Given the description of an element on the screen output the (x, y) to click on. 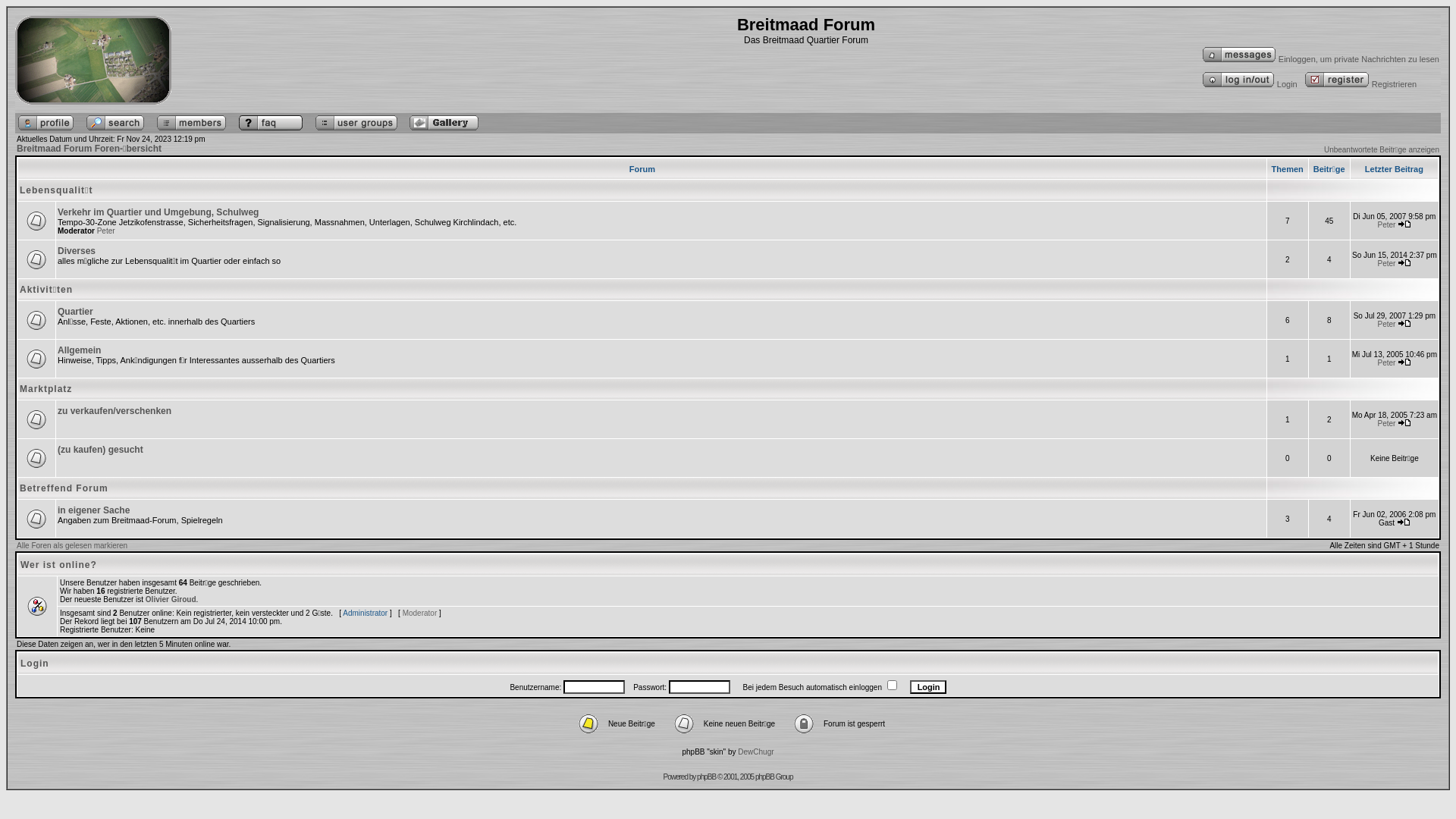
Peter Element type: text (1386, 324)
Quartier Element type: text (75, 311)
Peter Element type: text (1386, 263)
DewChugr Element type: text (755, 751)
Diverses Element type: text (76, 250)
Betreffend Forum Element type: text (63, 488)
Olivier Giroud Element type: text (170, 599)
Verkehr im Quartier und Umgebung, Schulweg Element type: text (157, 211)
Letzten Beitrag anzeigen Element type: hover (1404, 323)
in eigener Sache Element type: text (93, 510)
zu verkaufen/verschenken Element type: text (114, 409)
Letzten Beitrag anzeigen Element type: hover (1403, 521)
Registrieren Element type: text (1359, 83)
phpBB Element type: text (705, 776)
Peter Element type: text (106, 229)
Marktplatz Element type: text (45, 388)
Einloggen, um private Nachrichten zu lesen Element type: text (1319, 58)
Allgemein Element type: text (78, 349)
Peter Element type: text (1386, 362)
Wer ist online? Element type: text (58, 564)
Letzten Beitrag anzeigen Element type: hover (1404, 422)
(zu kaufen) gesucht Element type: text (100, 449)
Letzten Beitrag anzeigen Element type: hover (1404, 223)
Login Element type: text (928, 686)
Login Element type: text (1248, 83)
Letzten Beitrag anzeigen Element type: hover (1404, 262)
Alle Foren als gelesen markieren Element type: text (71, 545)
Peter Element type: text (1386, 224)
Peter Element type: text (1386, 423)
Letzten Beitrag anzeigen Element type: hover (1404, 361)
